Given the description of an element on the screen output the (x, y) to click on. 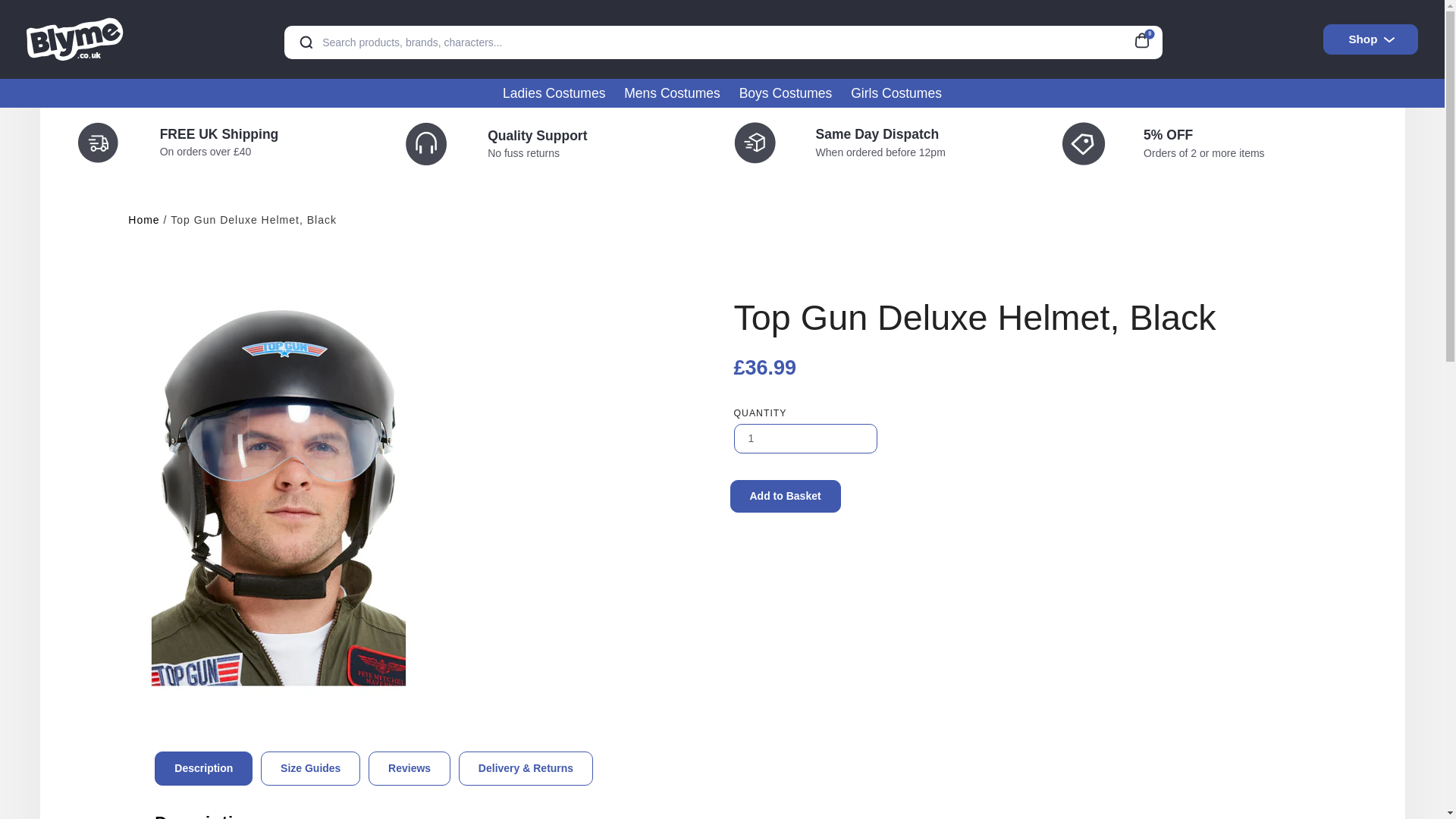
View your Basket (1147, 38)
Home (143, 220)
0 (1147, 38)
0 (1147, 38)
1 (805, 438)
